Given the description of an element on the screen output the (x, y) to click on. 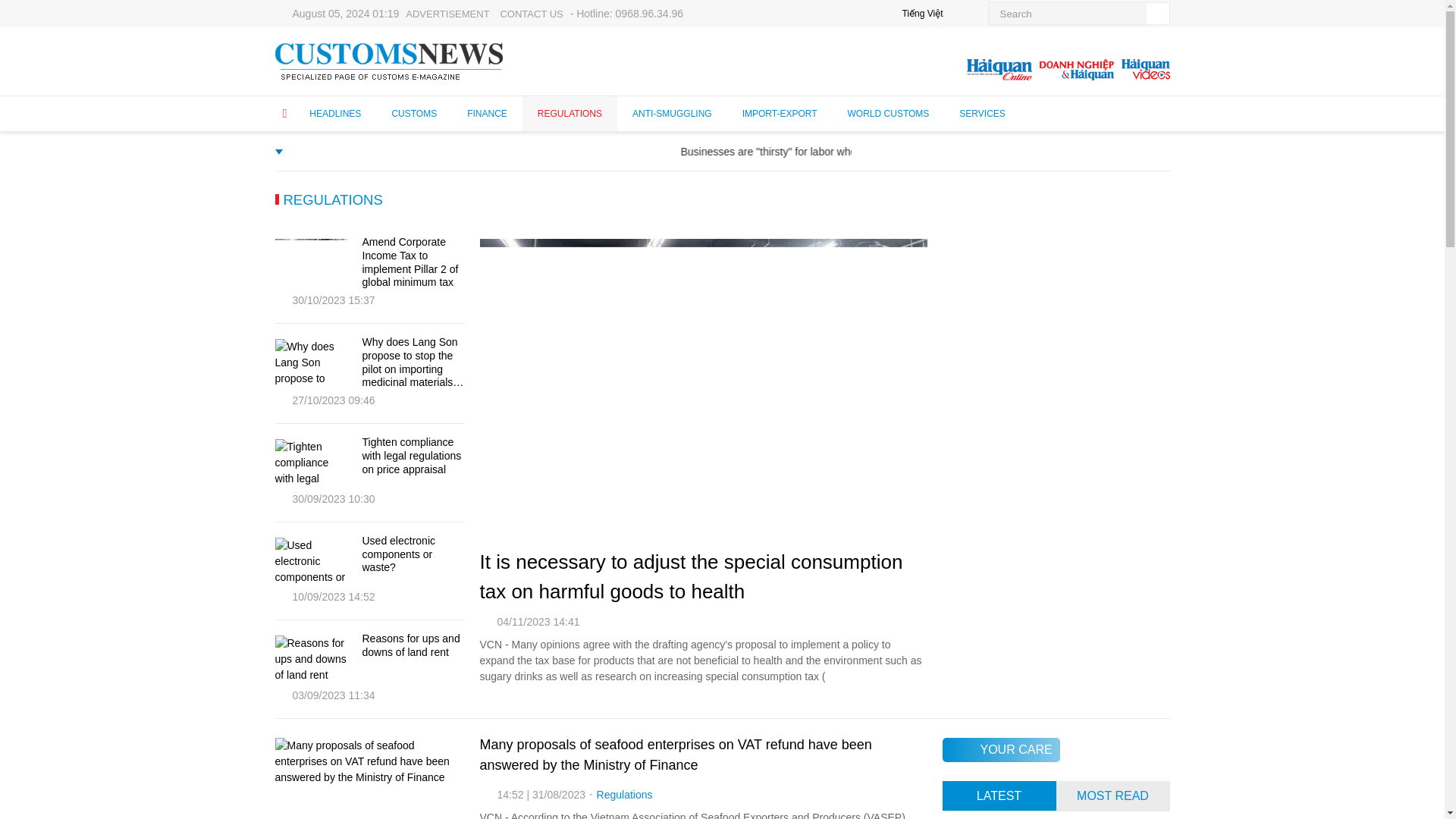
Businesses are "thirsty" for labor when orders flourish (942, 151)
Used electronic components or waste? (413, 554)
WORLD CUSTOMS (888, 113)
ANTI-SMUGGLING (671, 113)
REGULATIONS (328, 199)
IMPORT-EXPORT (779, 113)
Reasons for ups and downs of land rent (310, 659)
HEADLINES (334, 113)
Tighten compliance with legal regulations on price appraisal (413, 455)
